Given the description of an element on the screen output the (x, y) to click on. 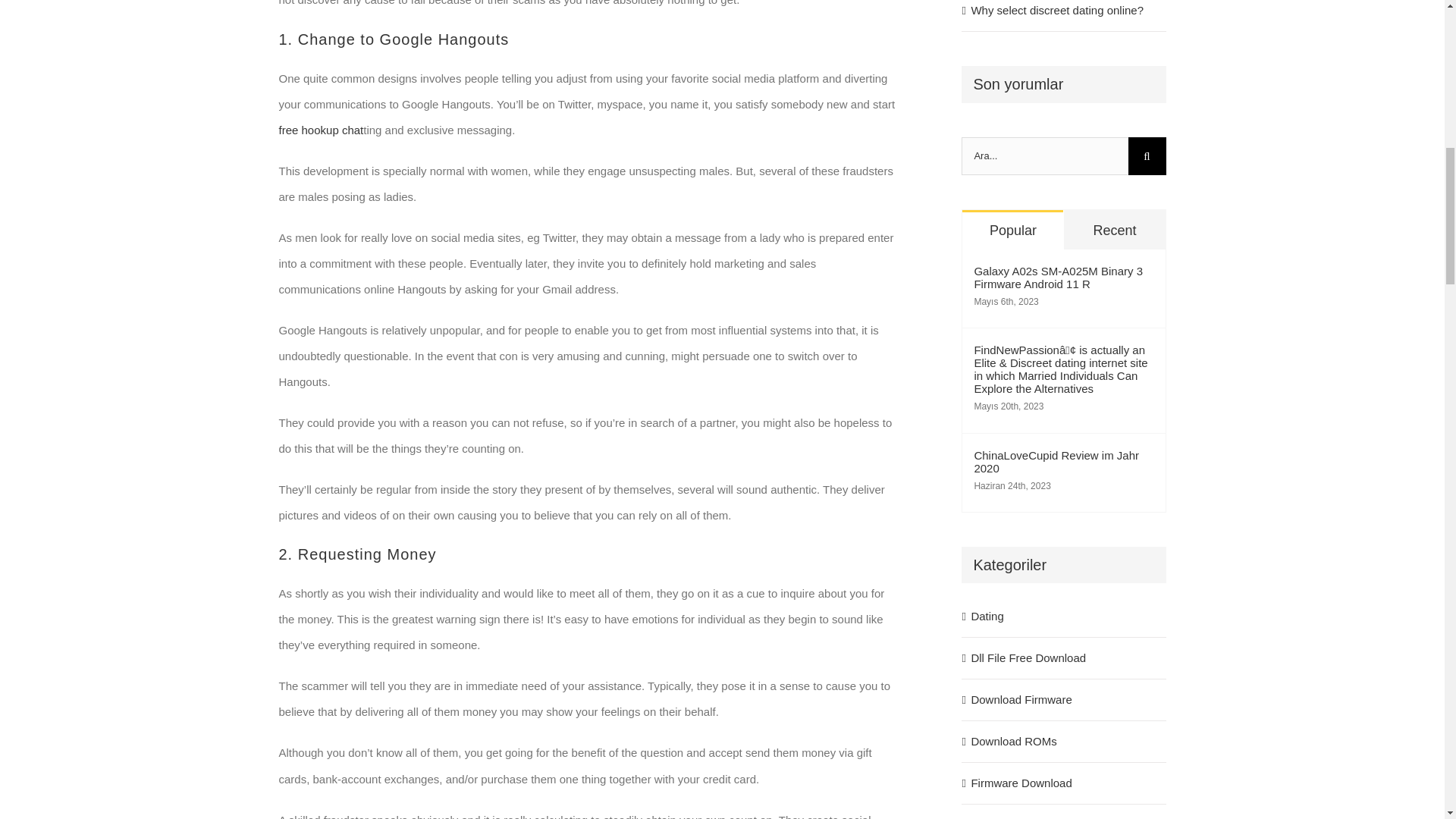
free hookup chat (321, 129)
Why select discreet dating online? (1056, 10)
